Given the description of an element on the screen output the (x, y) to click on. 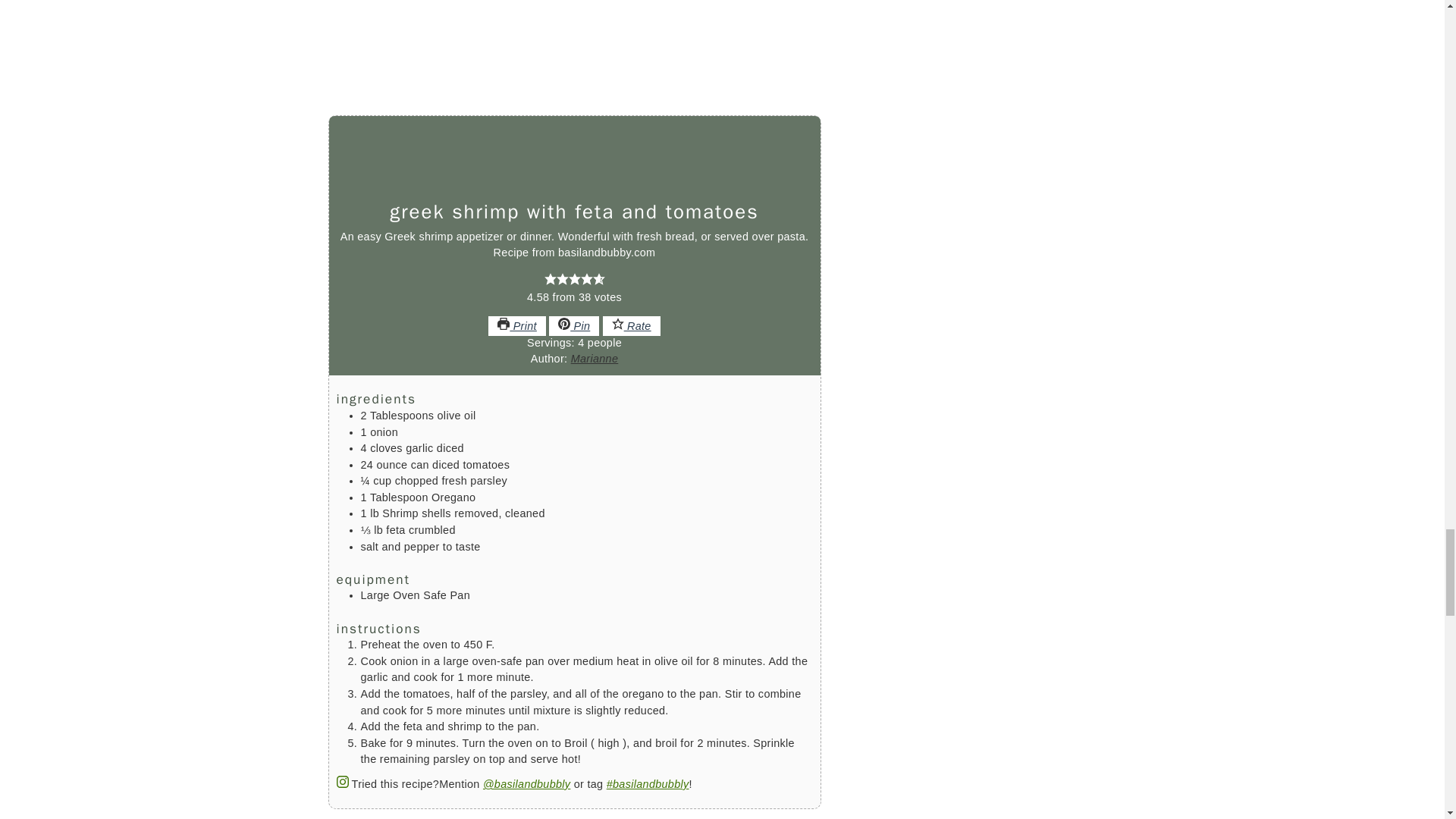
Print (516, 325)
Pin (573, 325)
